Given the description of an element on the screen output the (x, y) to click on. 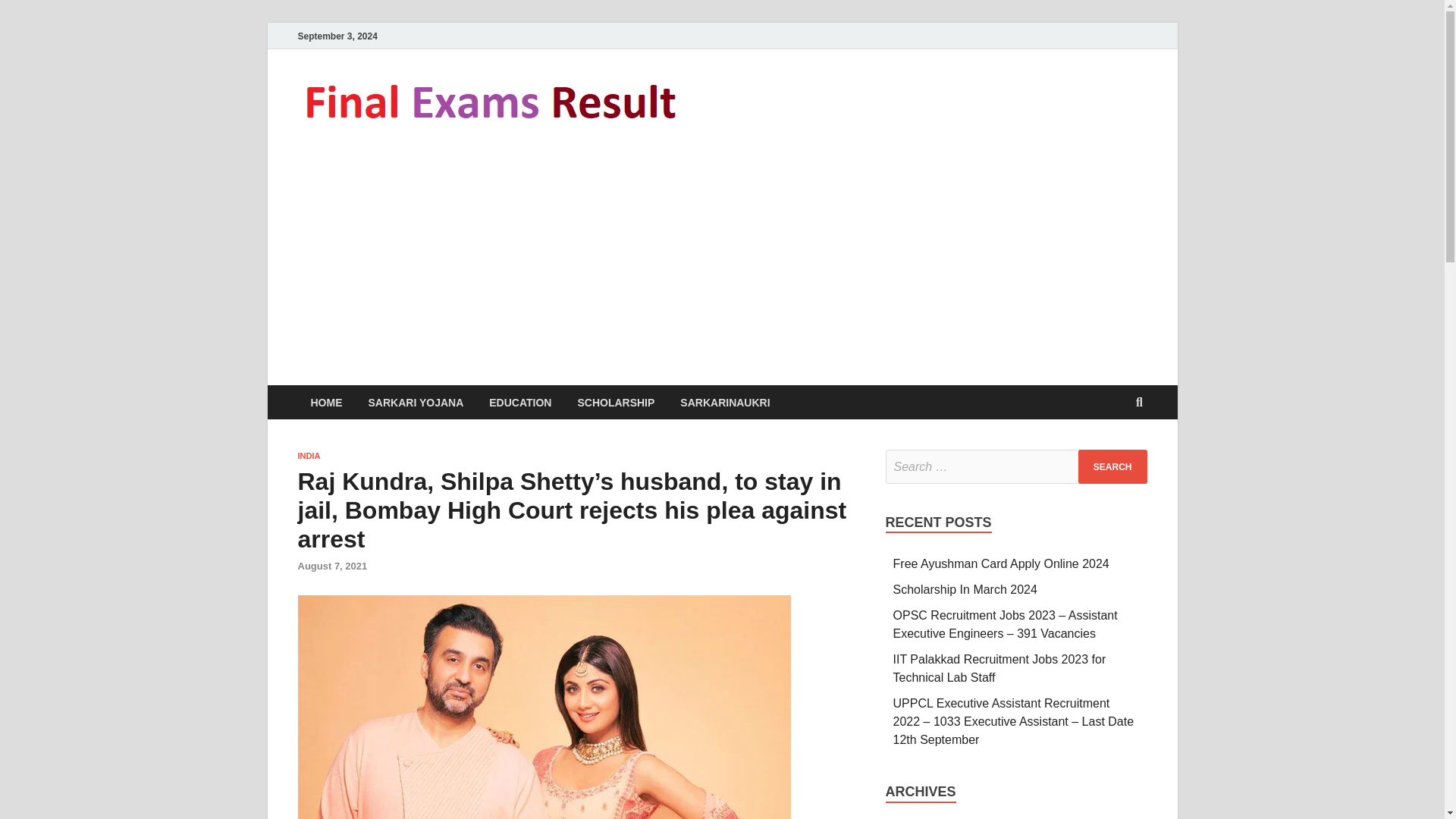
Search (1112, 466)
IIT Palakkad Recruitment Jobs 2023 for Technical Lab Staff (999, 667)
SCHOLARSHIP (615, 401)
Scholarship In March 2024 (964, 589)
SARKARI YOJANA (415, 401)
Free Ayushman Card Apply Online 2024 (1001, 563)
SARKARINAUKRI (724, 401)
August 7, 2021 (331, 565)
EDUCATION (520, 401)
INDIA (308, 455)
